Given the description of an element on the screen output the (x, y) to click on. 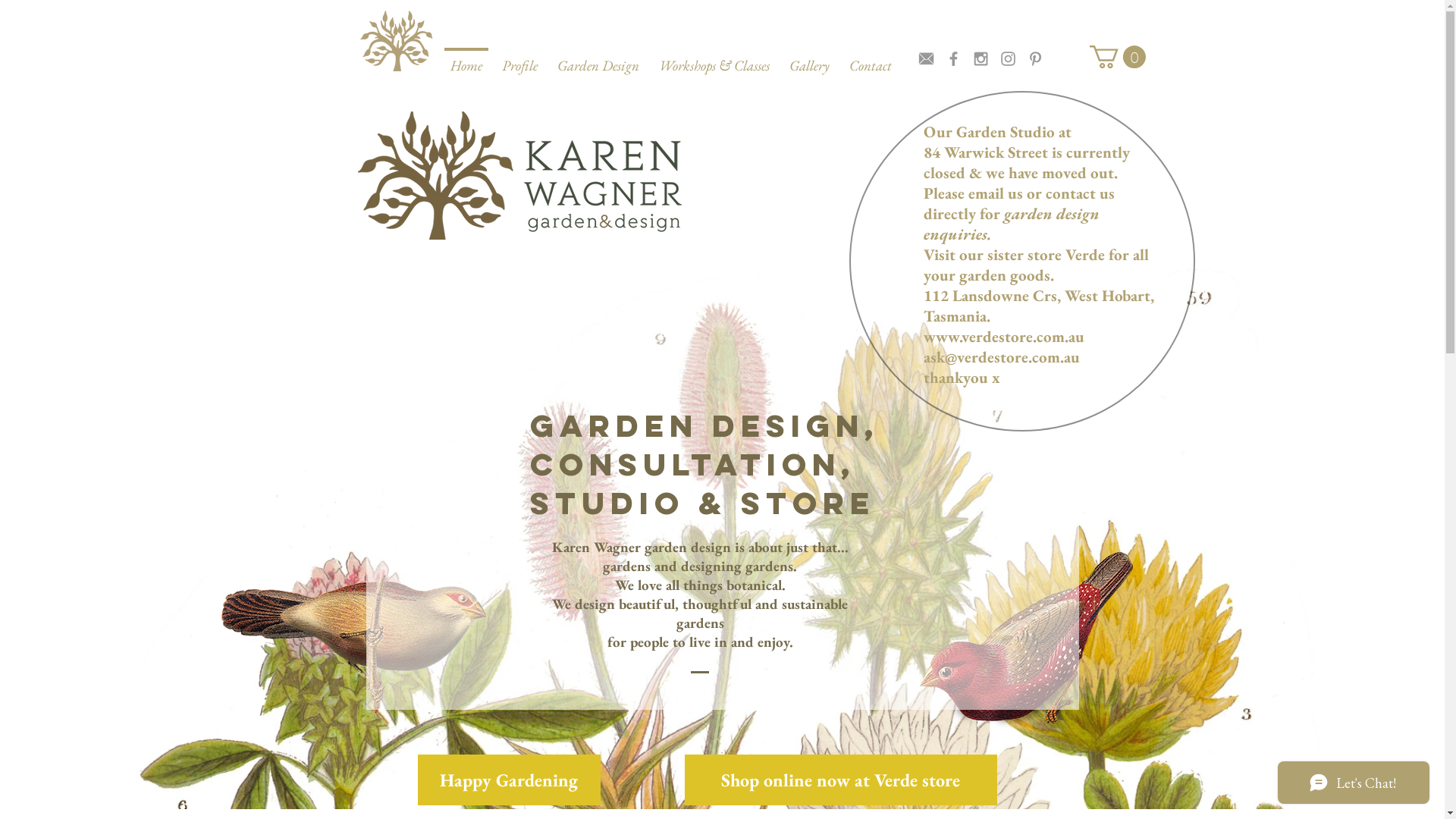
www.verdestore.com.au Element type: text (1003, 336)
Workshops & Classes Element type: text (714, 58)
Home Element type: text (465, 58)
ask@verdestore.com.au Element type: text (1001, 356)
0 Element type: text (1116, 56)
Contact Element type: text (869, 58)
Site Search Element type: hover (996, 23)
Happy Gardening Element type: text (508, 779)
Profile Element type: text (518, 58)
Gallery Element type: text (809, 58)
Garden Design Element type: text (598, 58)
Shop online now at Verde store Element type: text (840, 779)
